Given the description of an element on the screen output the (x, y) to click on. 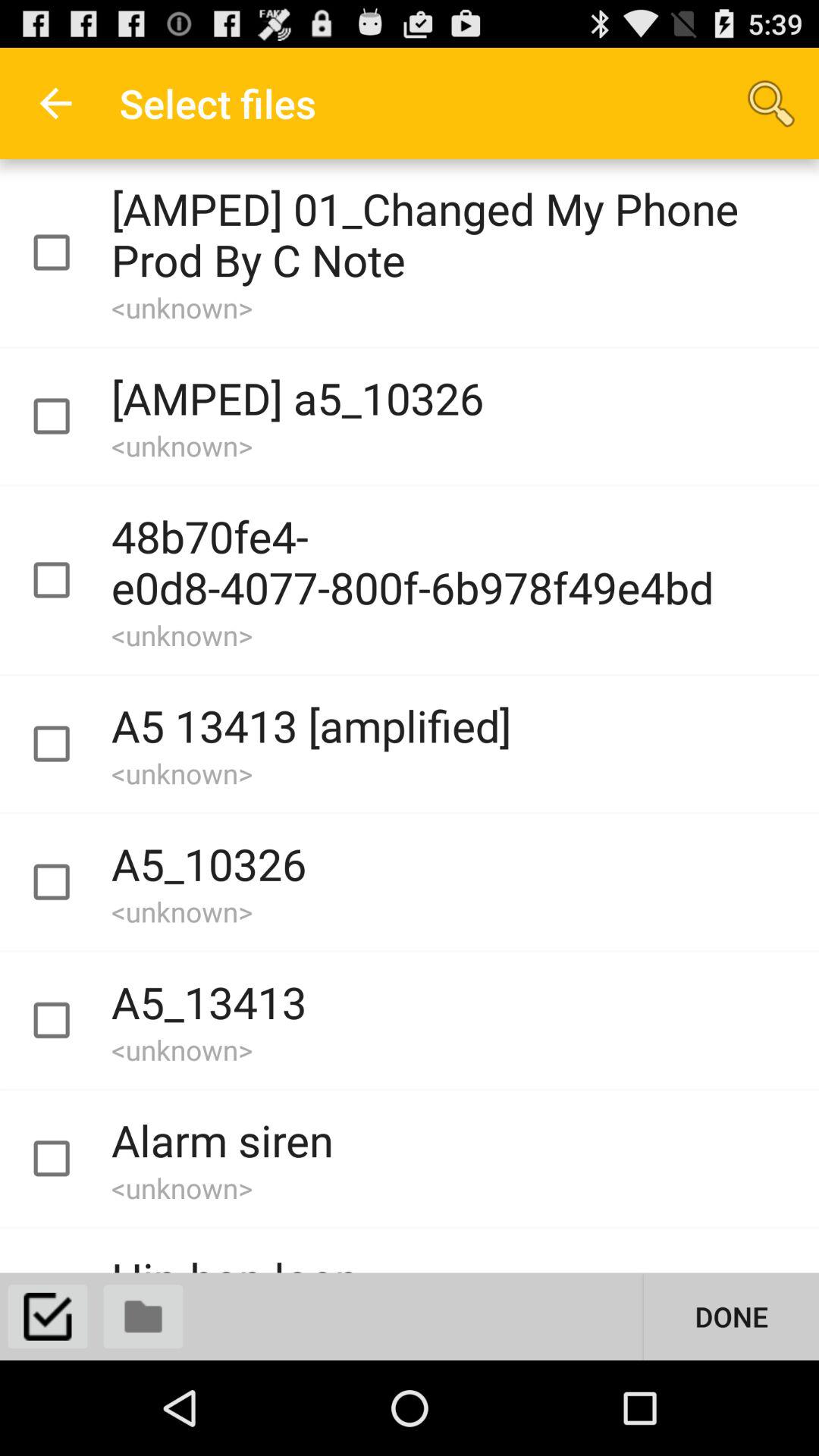
turn on the app below the 48b70fe4 e0d8 4077 icon (731, 1316)
